Given the description of an element on the screen output the (x, y) to click on. 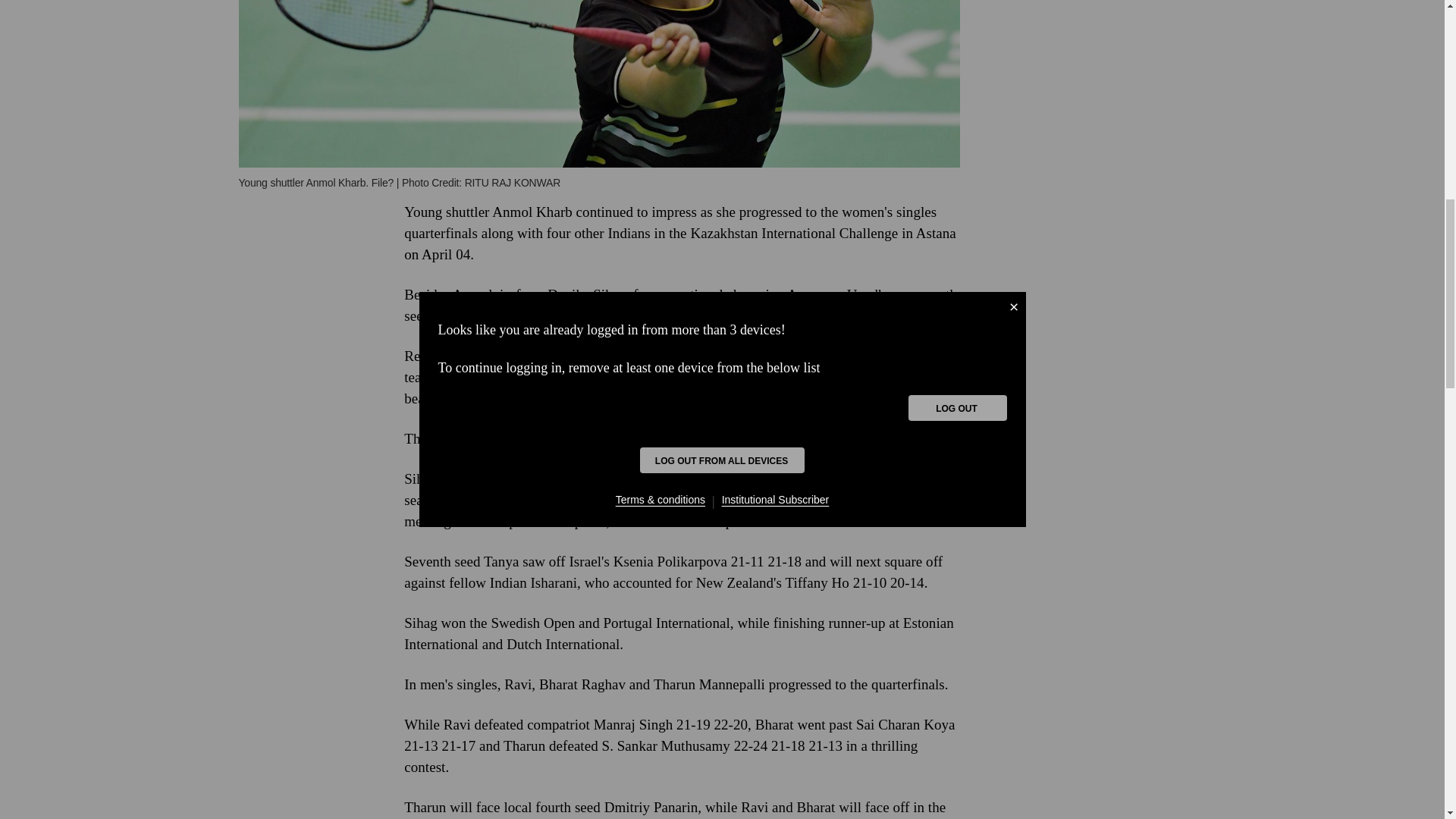
Young shuttler Anmol Kharb. File? (598, 83)
